Given the description of an element on the screen output the (x, y) to click on. 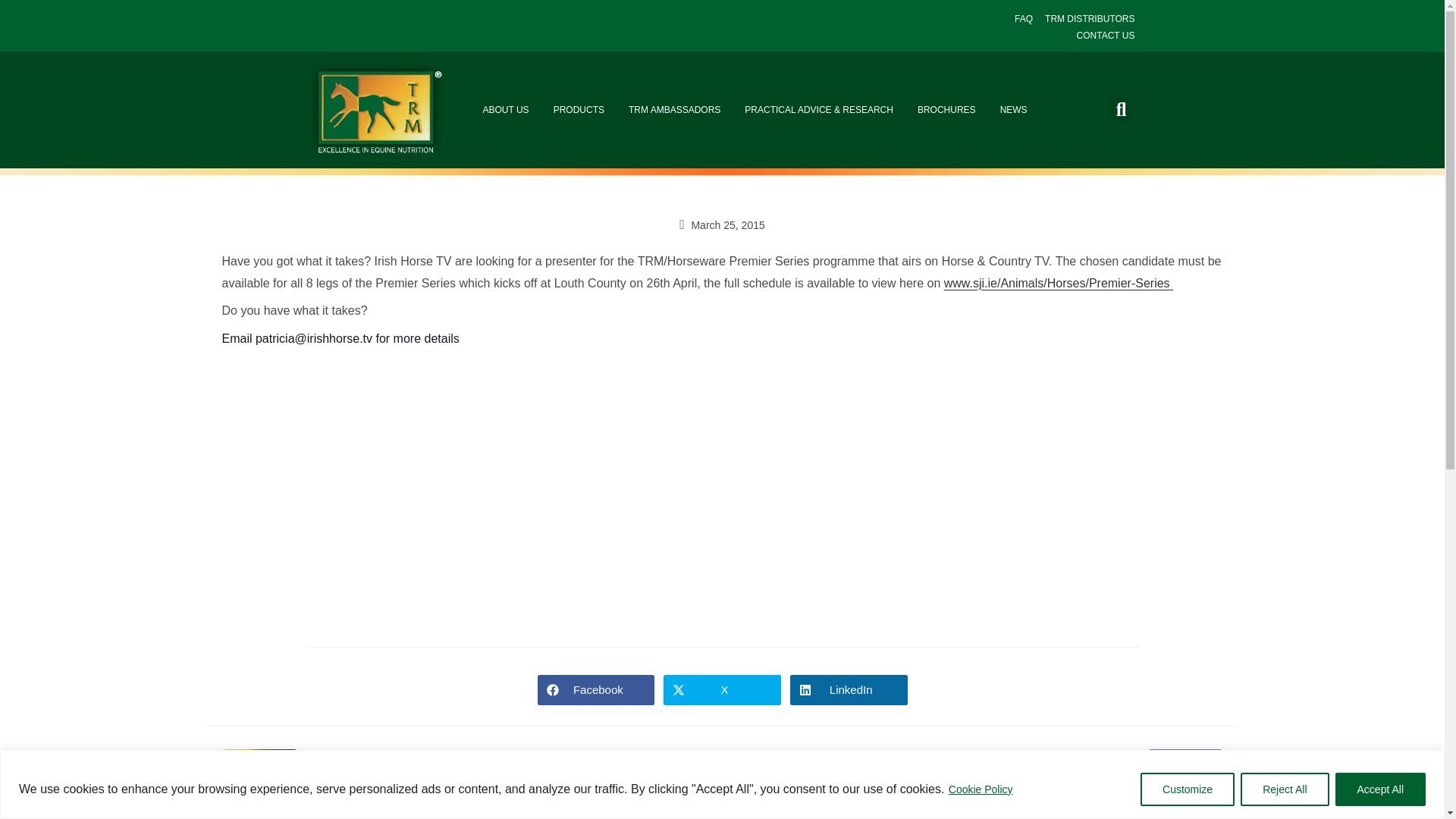
NEWS (1013, 109)
Accept All (1380, 788)
Cookie Policy (980, 789)
Customize (1187, 788)
TRM AMBASSADORS (673, 109)
TRM DISTRIBUTORS (1089, 19)
PRODUCTS (578, 109)
Reject All (1283, 788)
CONTACT US (1106, 36)
FAQ (1023, 19)
BROCHURES (946, 109)
ABOUT US (505, 109)
